Given the description of an element on the screen output the (x, y) to click on. 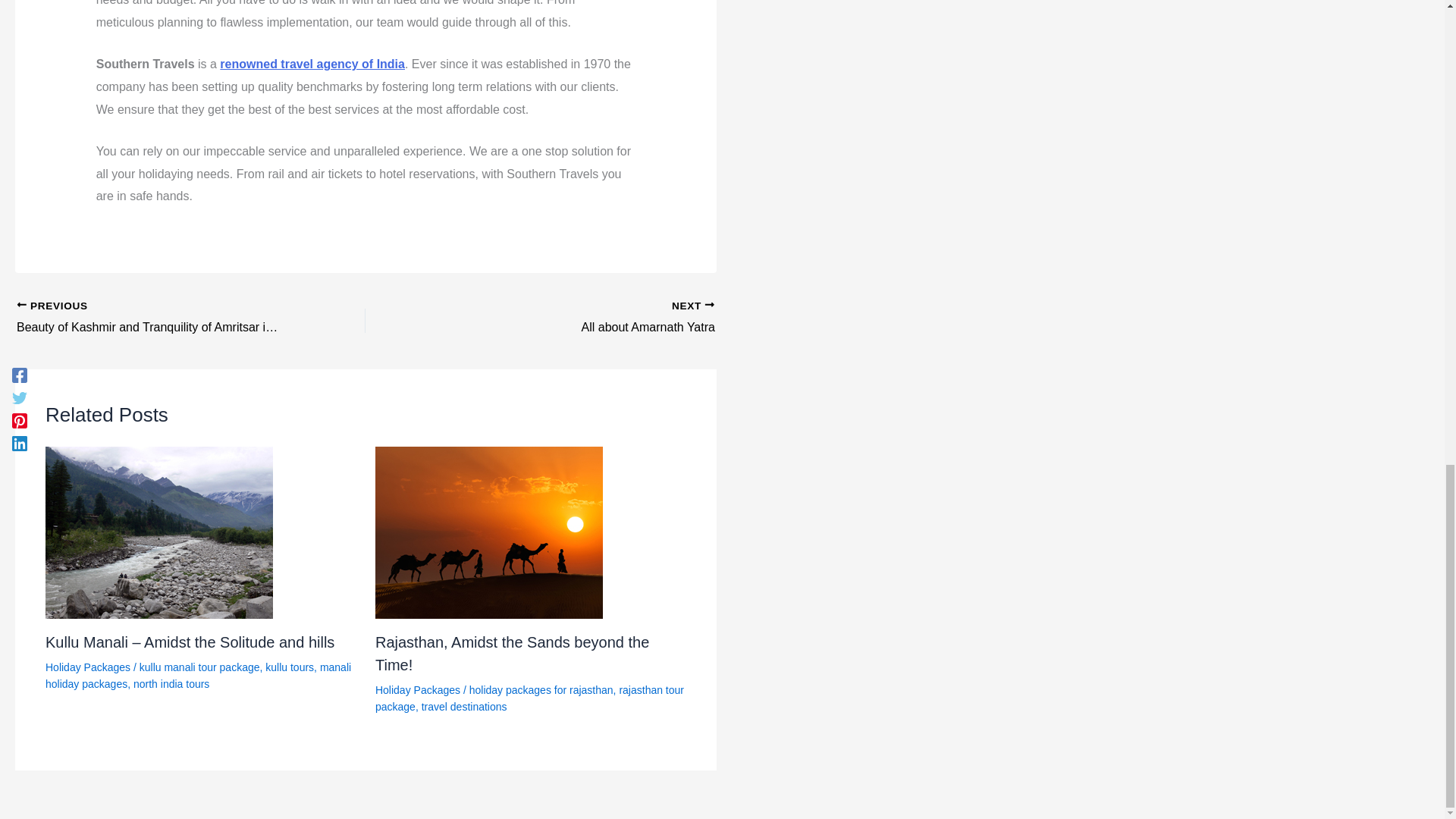
kullu manali tour package (199, 666)
Rajasthan, Amidst the Sands beyond the Time! (512, 653)
All about Amarnath Yatra (573, 318)
kullu tours (289, 666)
manali holiday packages (197, 675)
north india tours (171, 684)
renowned travel agency of India (311, 63)
